Given the description of an element on the screen output the (x, y) to click on. 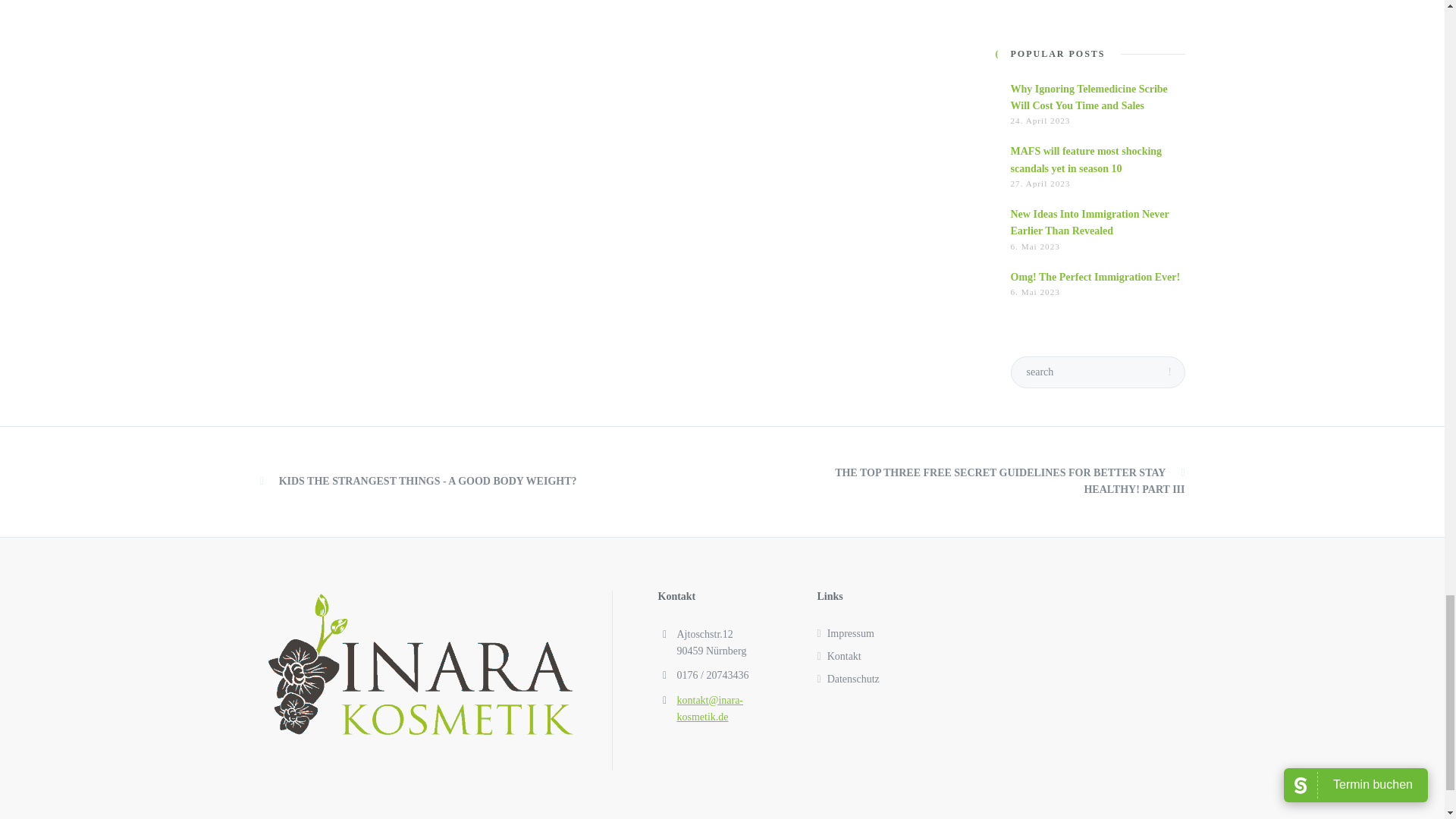
MAFS will feature most shocking scandals yet in season 10 (1085, 159)
